Given the description of an element on the screen output the (x, y) to click on. 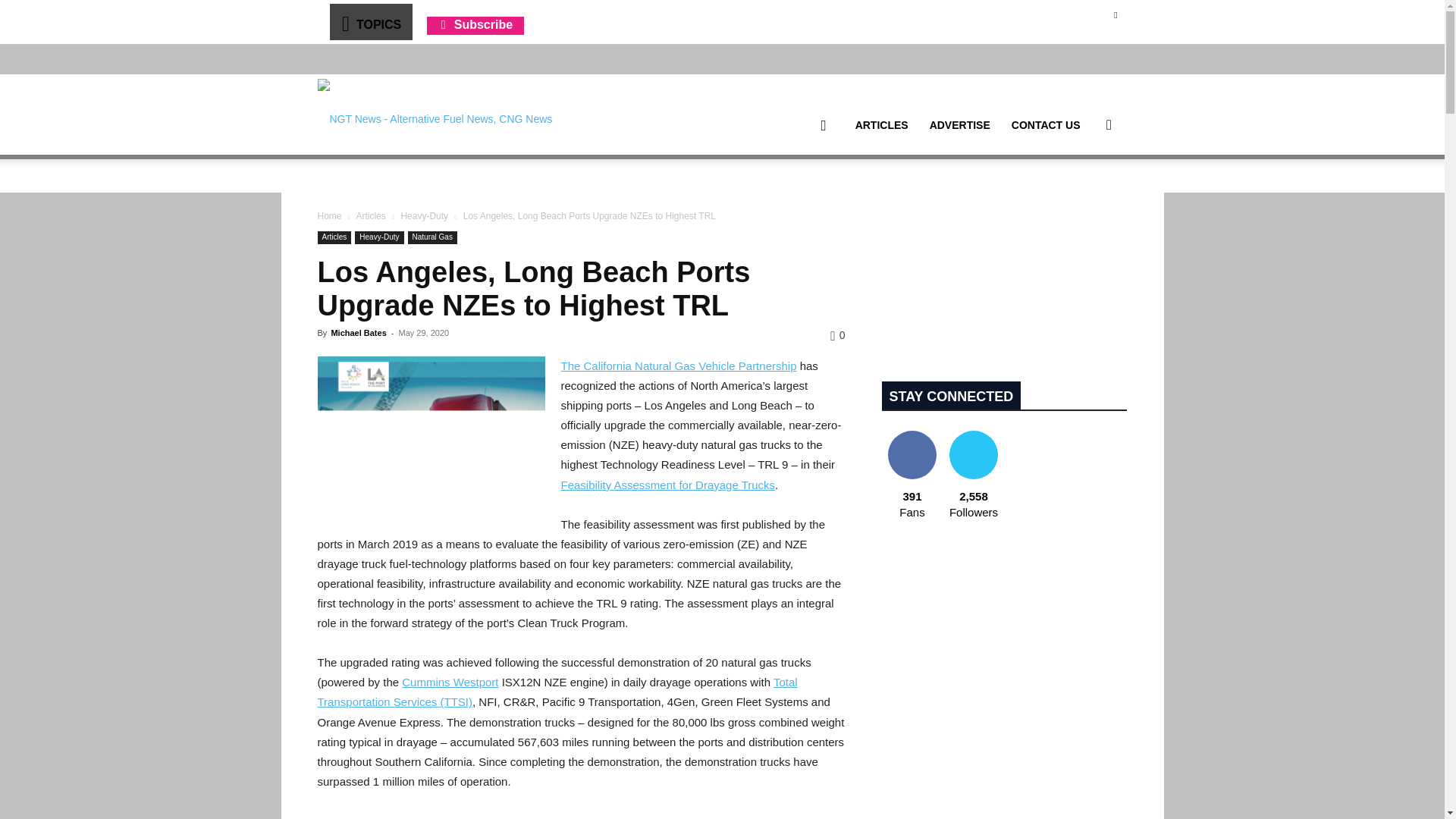
TOPICS (370, 22)
Twitter (1114, 14)
Search (1085, 197)
Subscribe (475, 24)
Alternative Fuel News, CNG News (434, 114)
ARTICLES (881, 124)
NGT News (434, 114)
